Given the description of an element on the screen output the (x, y) to click on. 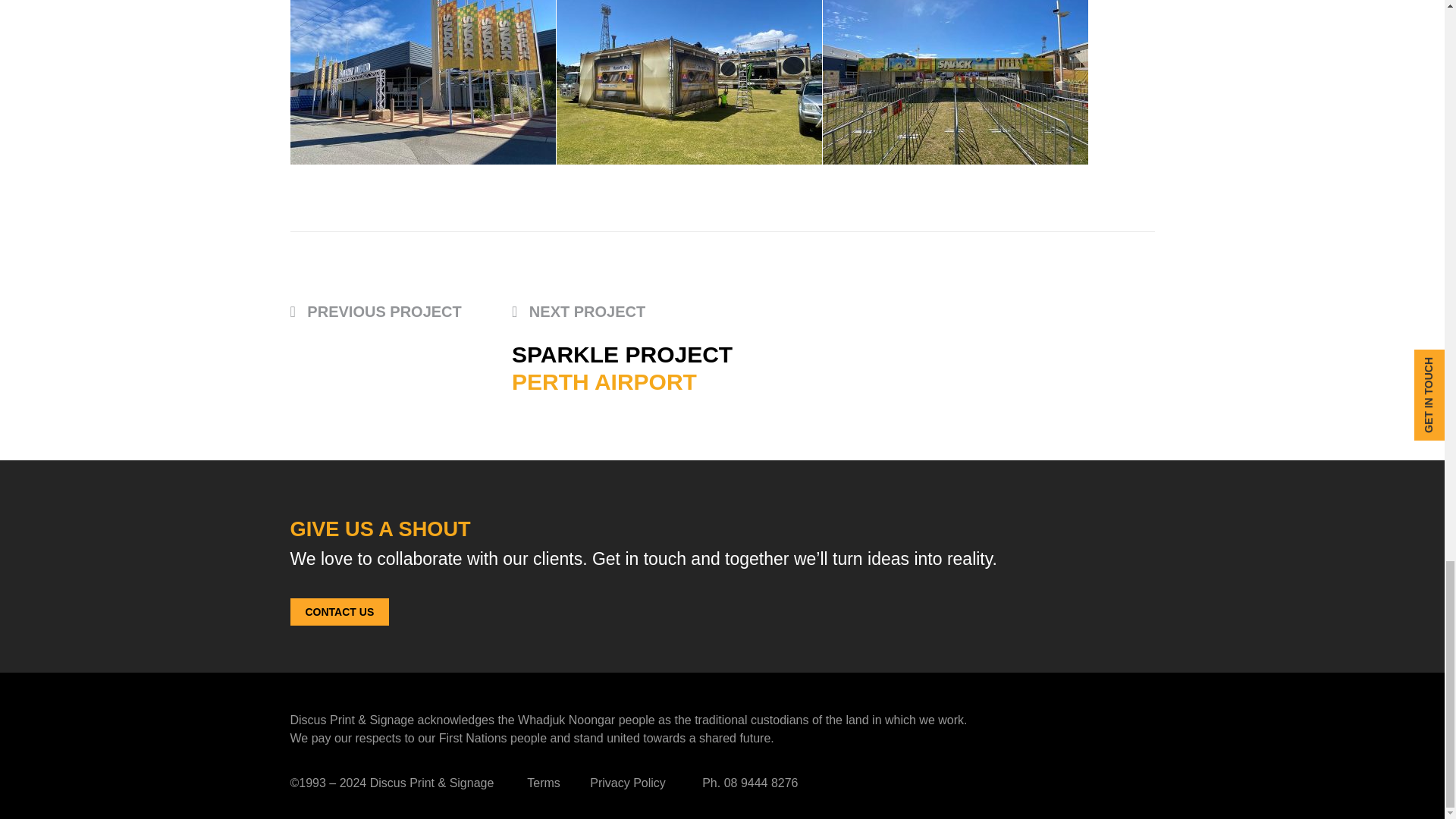
festival banners perth (689, 82)
banner poles festival (421, 82)
event signage perth (954, 82)
